Given the description of an element on the screen output the (x, y) to click on. 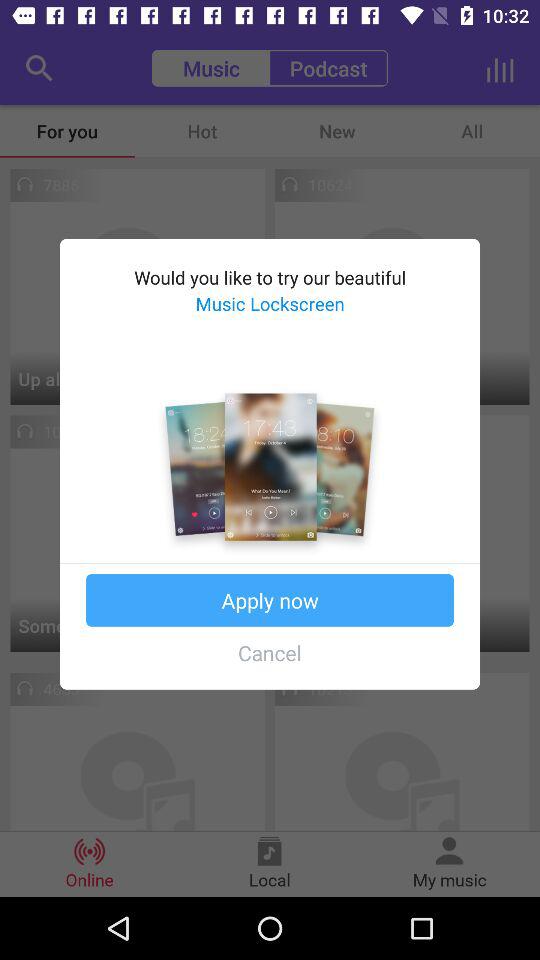
click icon above cancel (269, 600)
